Given the description of an element on the screen output the (x, y) to click on. 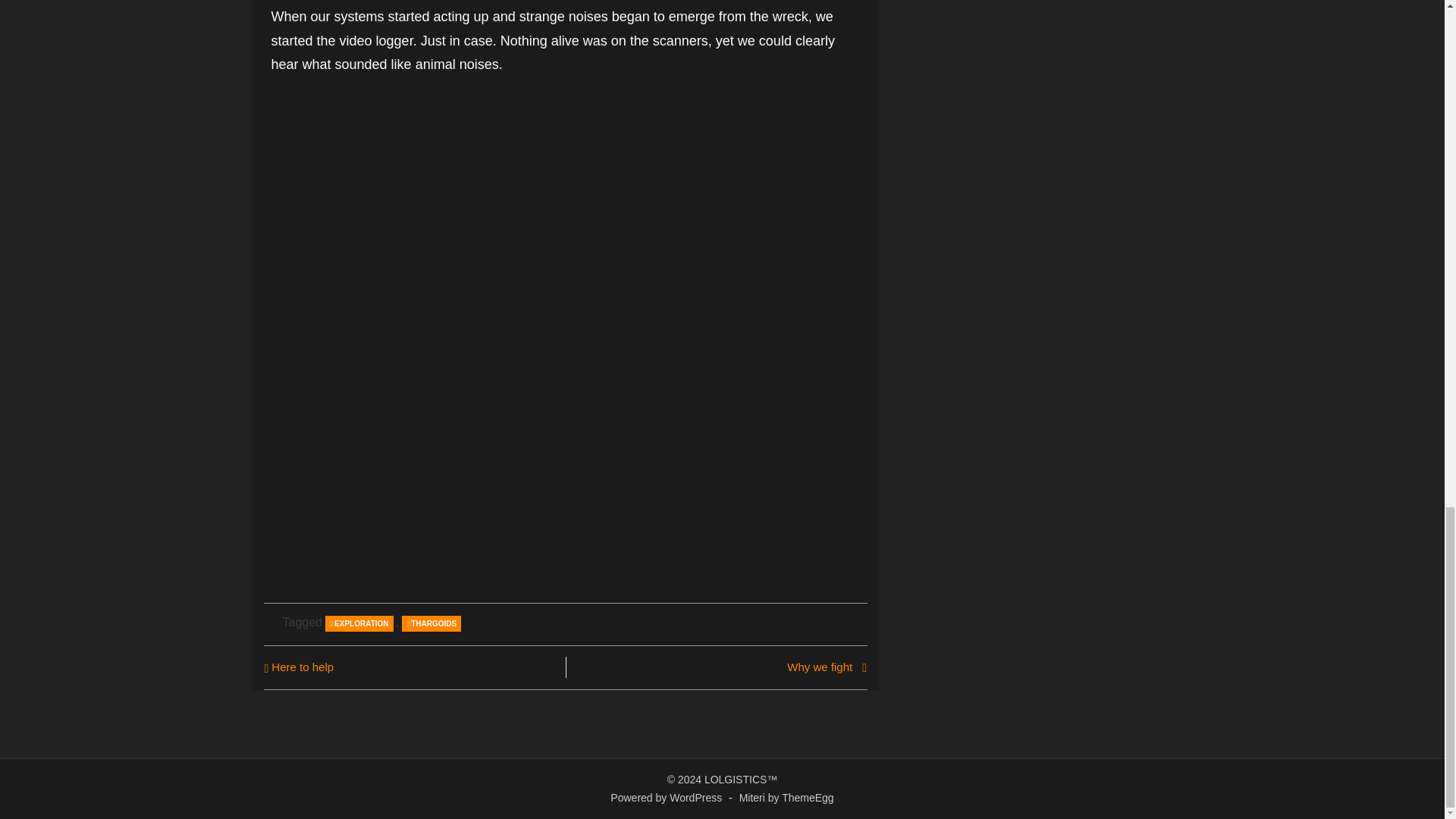
Powered by WordPress (666, 797)
Miteri by ThemeEgg (786, 797)
Why we fight (720, 667)
EXPLORATION (358, 623)
THARGOIDS (431, 623)
Here to help (410, 667)
